Given the description of an element on the screen output the (x, y) to click on. 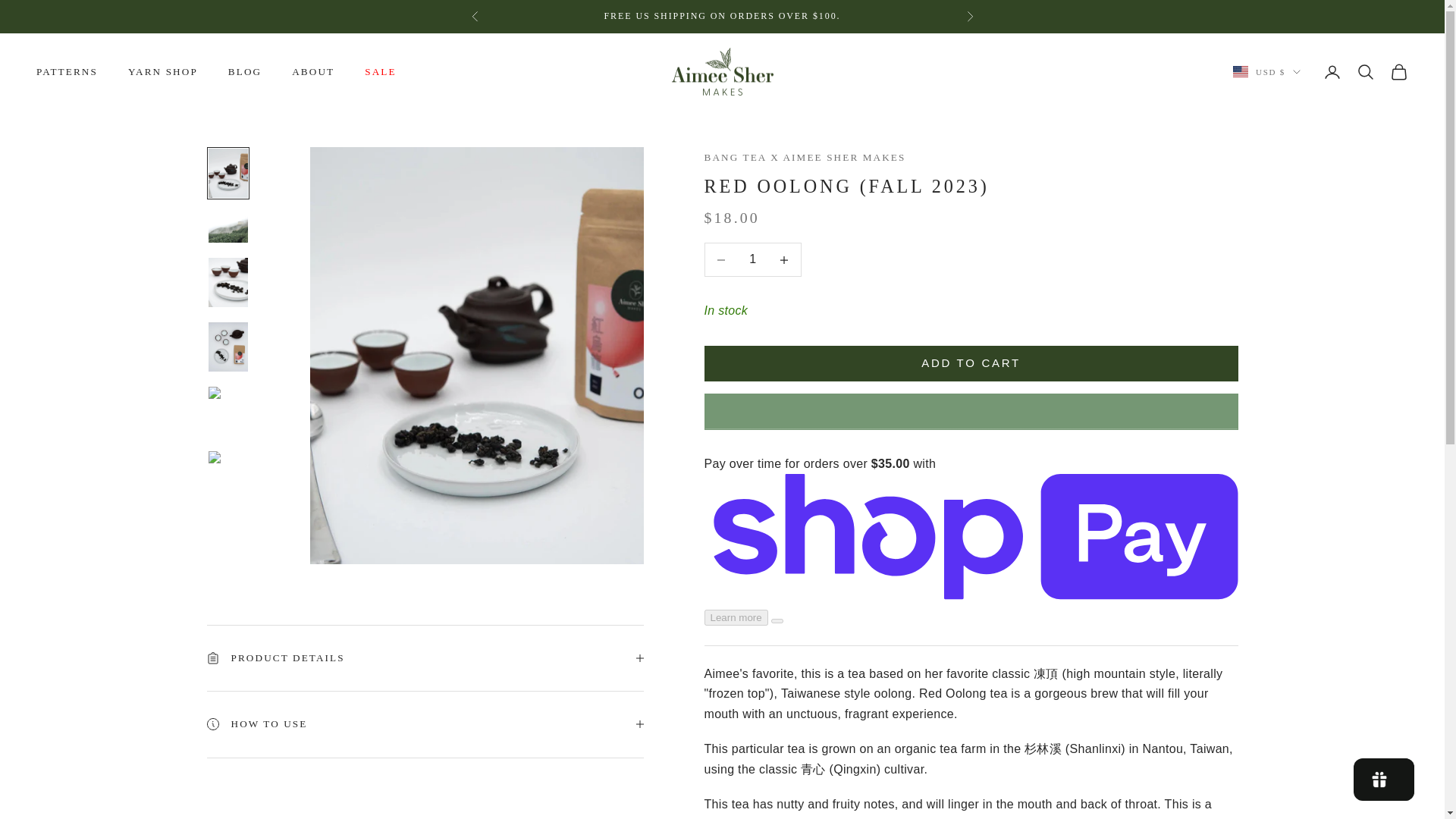
Aimee Sher Makes (722, 71)
1 (424, 691)
